Given the description of an element on the screen output the (x, y) to click on. 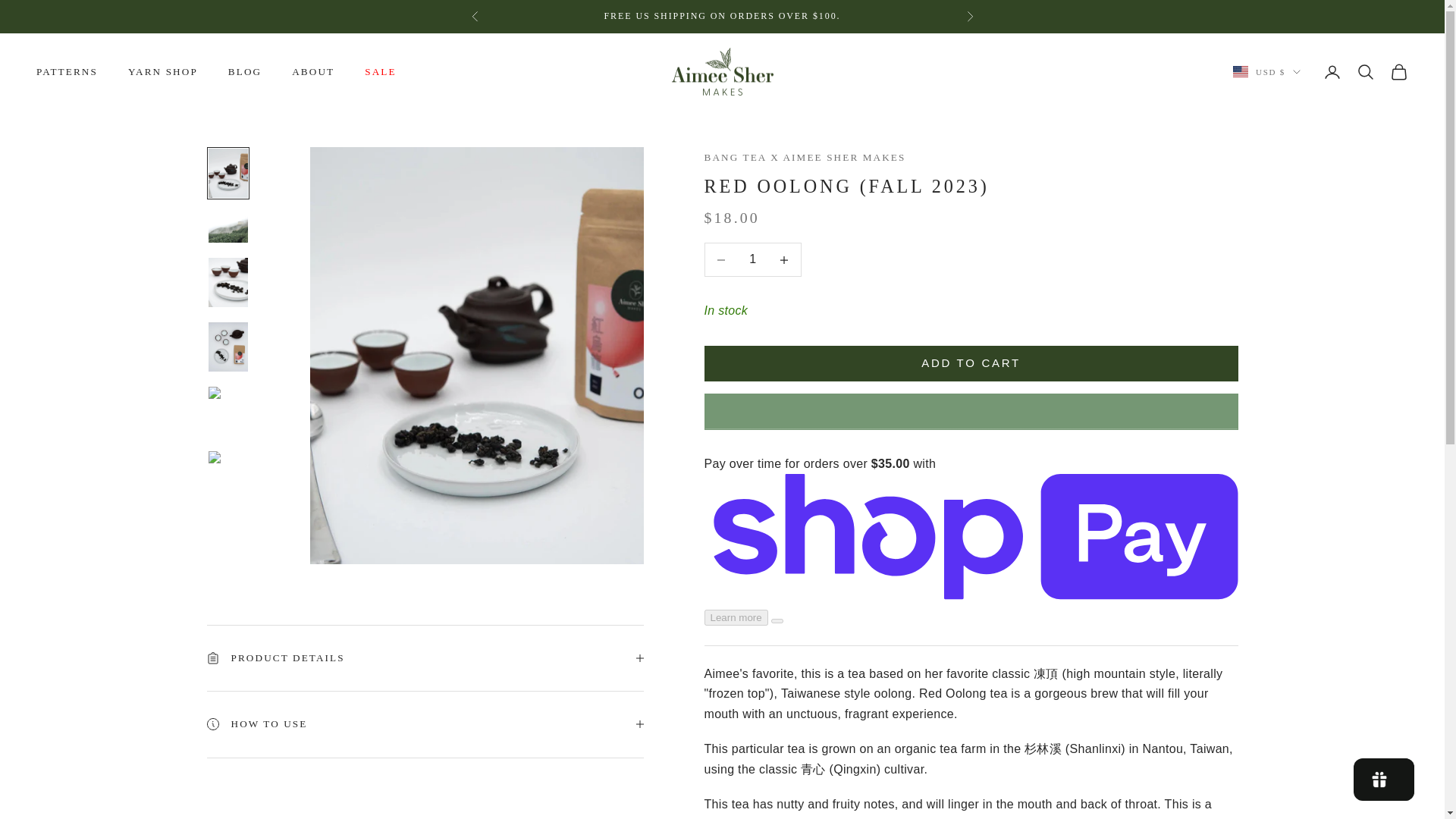
Aimee Sher Makes (722, 71)
1 (424, 691)
